Given the description of an element on the screen output the (x, y) to click on. 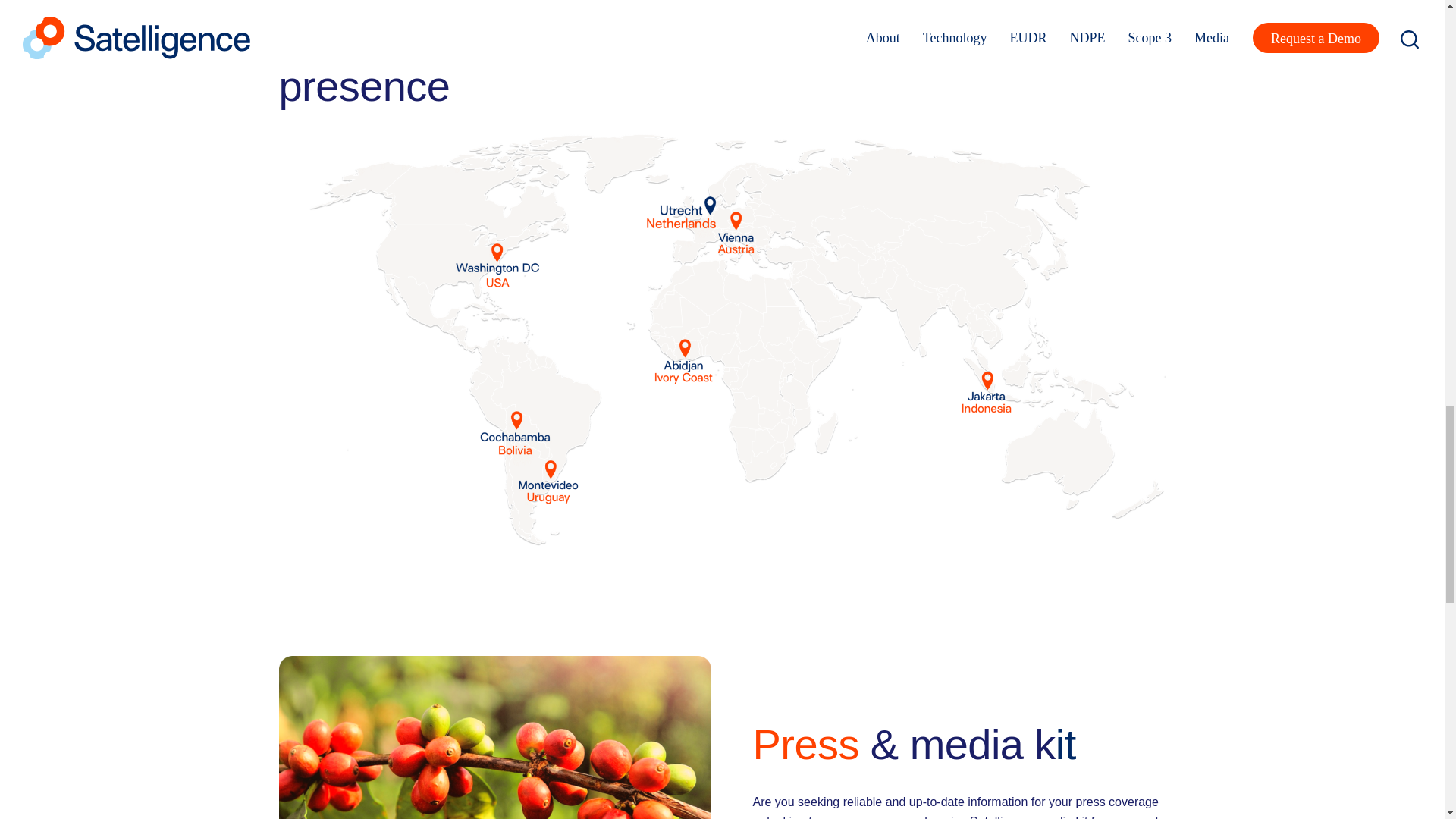
Rectangle 55 (495, 737)
